Given the description of an element on the screen output the (x, y) to click on. 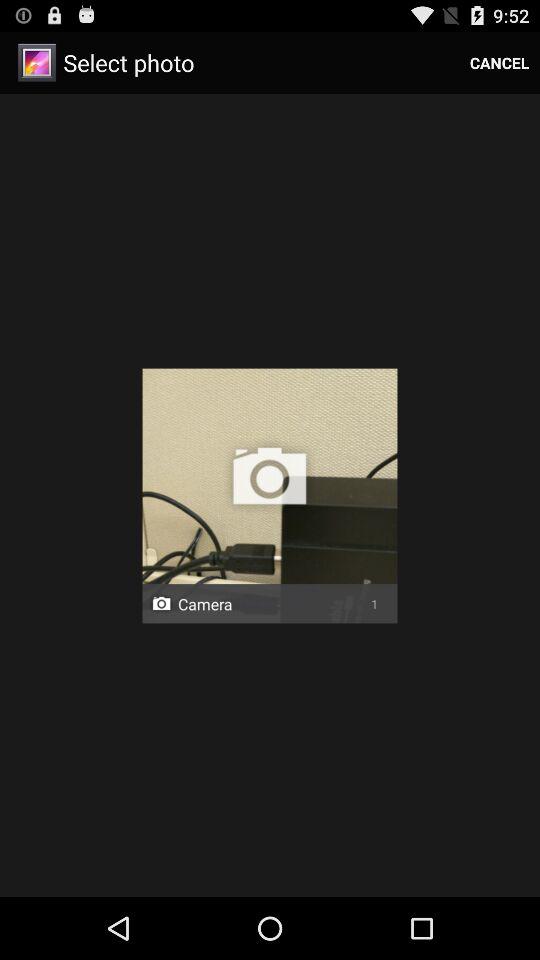
scroll until cancel (499, 62)
